Given the description of an element on the screen output the (x, y) to click on. 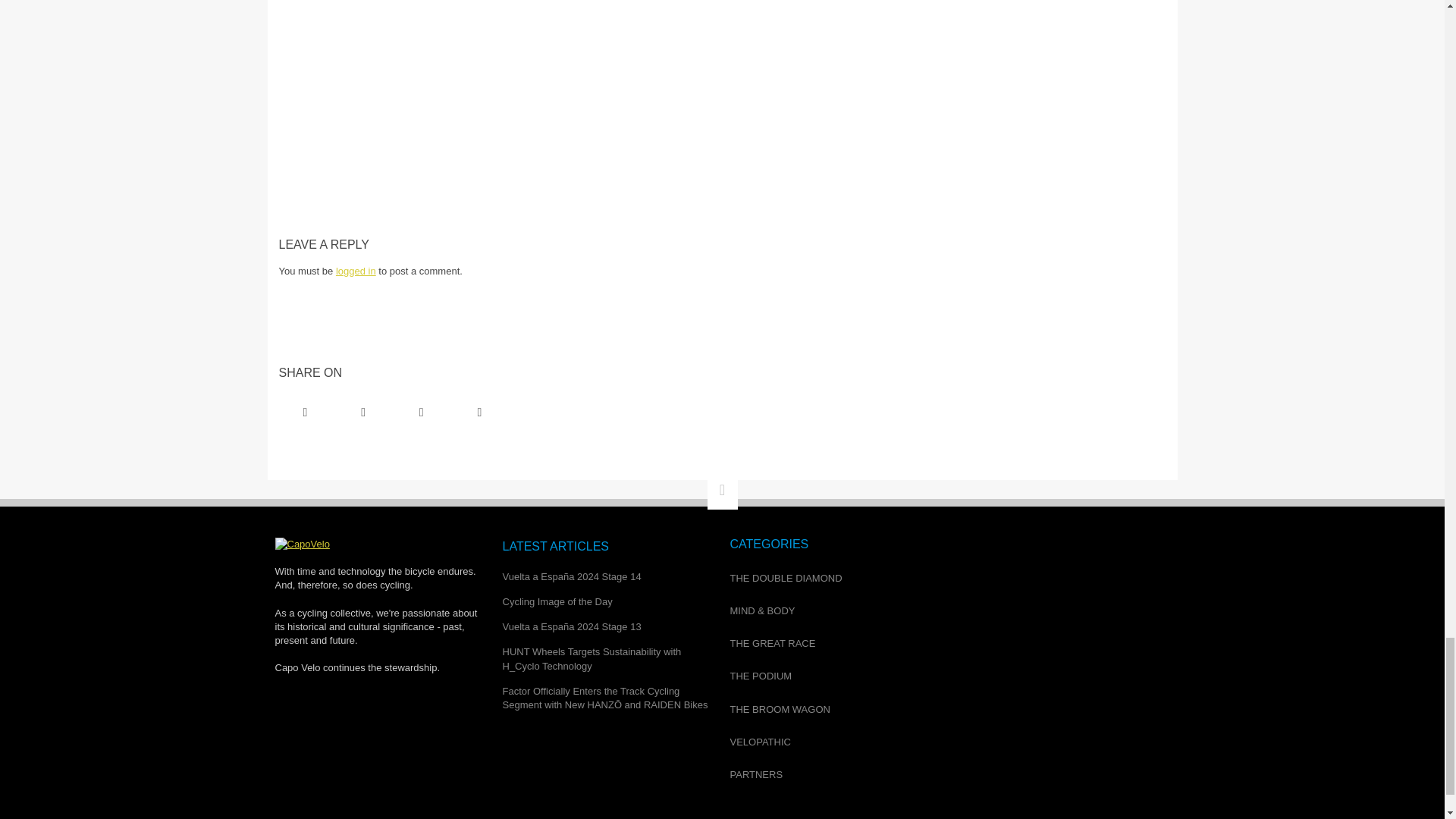
Twitter (363, 412)
Pinterest (421, 412)
E-Mail (478, 412)
Facebook (305, 412)
